Given the description of an element on the screen output the (x, y) to click on. 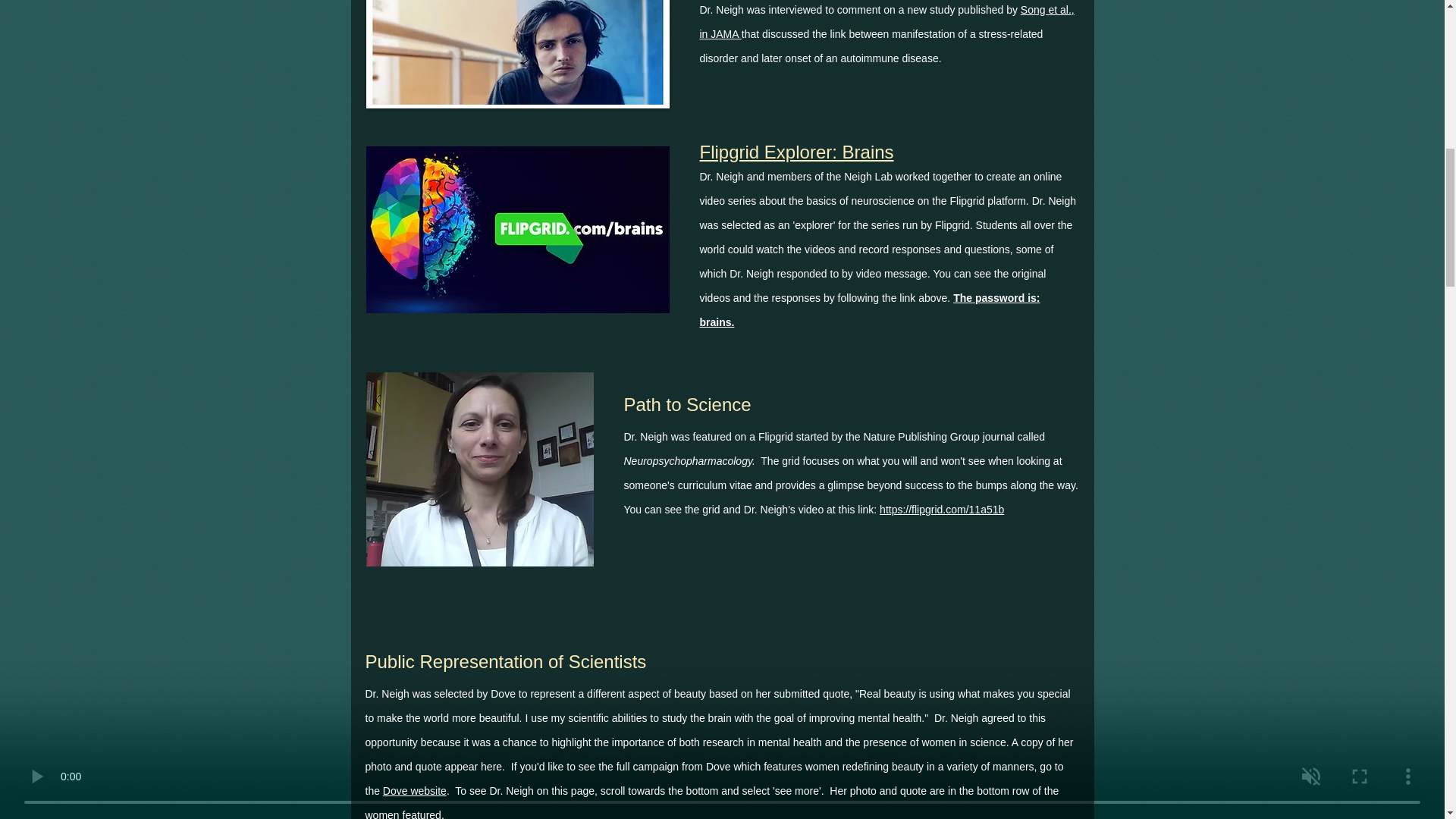
Song et al., in JAMA (886, 22)
Public Representation of Scientists (505, 660)
Dove website (414, 790)
Path to Science (687, 403)
Flipgrid Explorer: Brains (795, 150)
